Given the description of an element on the screen output the (x, y) to click on. 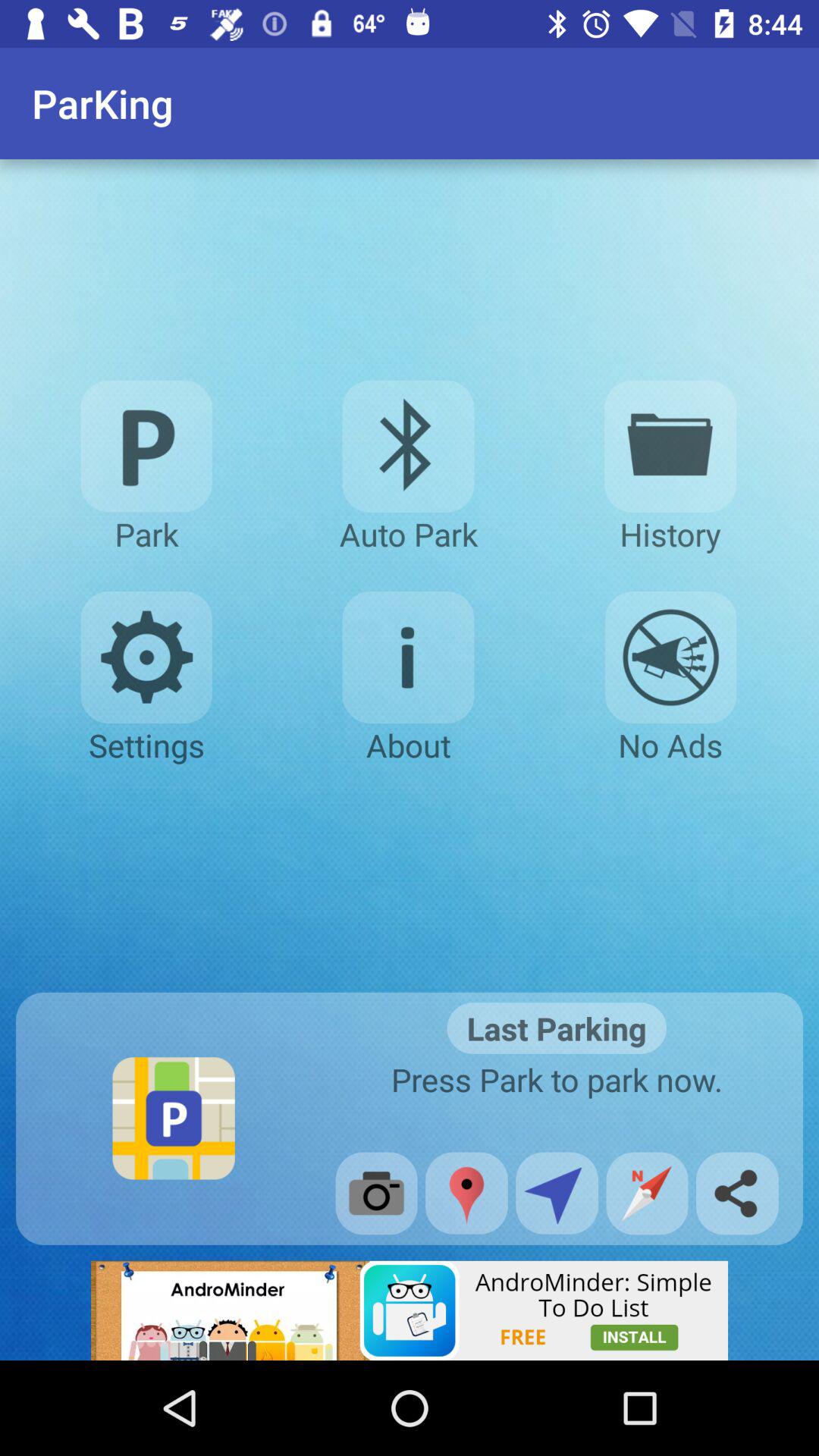
finding parking icon (146, 445)
